Given the description of an element on the screen output the (x, y) to click on. 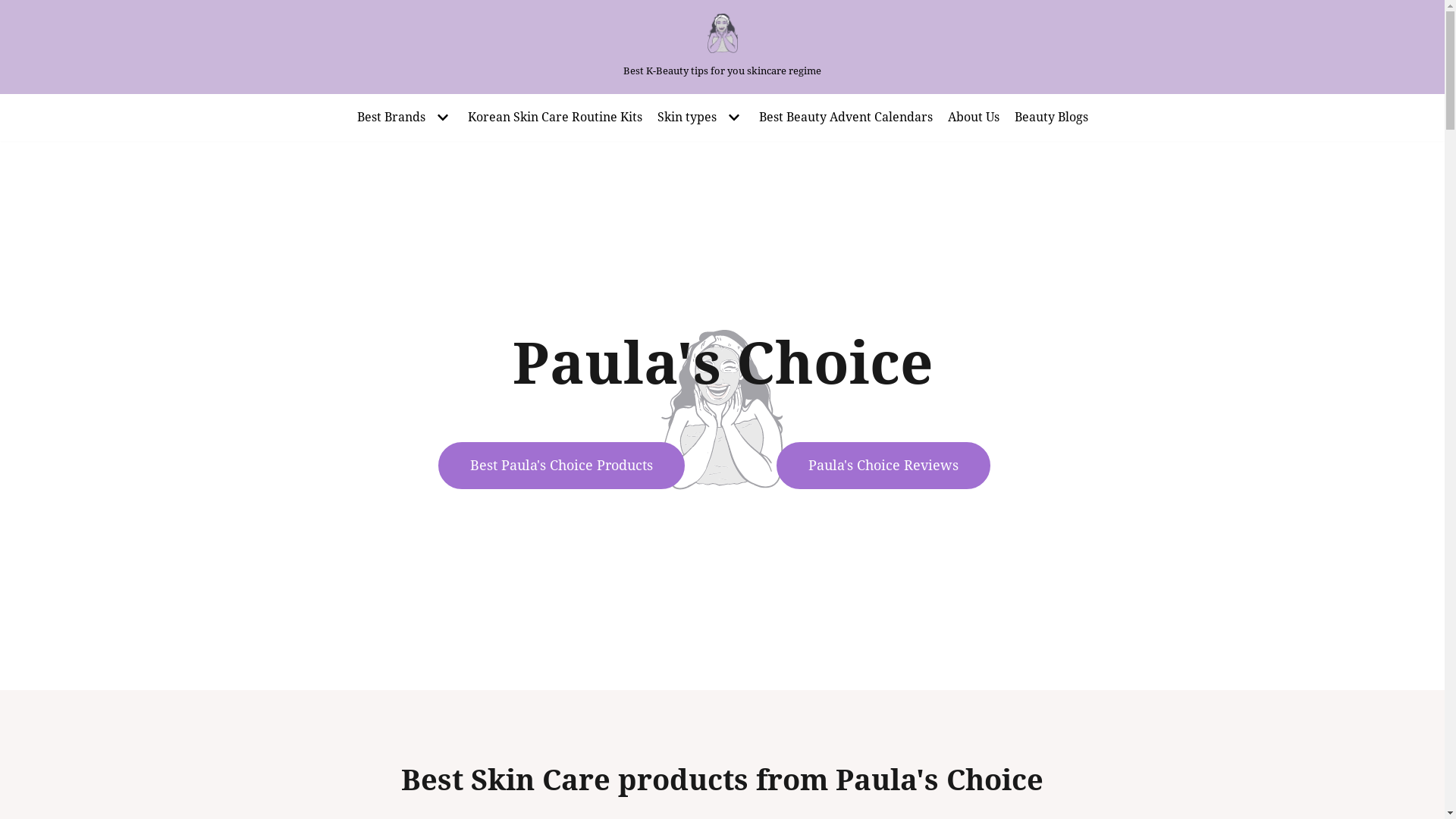
Best Paula's Choice Products Element type: text (561, 465)
About Us Element type: text (973, 117)
Skip to content Element type: text (15, 7)
Korean Skin Care Routine Kits Element type: text (554, 117)
Beauty Blogs Element type: text (1051, 117)
Paula's Choice Reviews Element type: text (883, 465)
Best Beauty Advent Calendars Element type: text (844, 117)
Best K-Beauty tips for you skincare regime Element type: text (722, 46)
Best Brands Element type: text (403, 117)
Skin types Element type: text (699, 117)
